Given the description of an element on the screen output the (x, y) to click on. 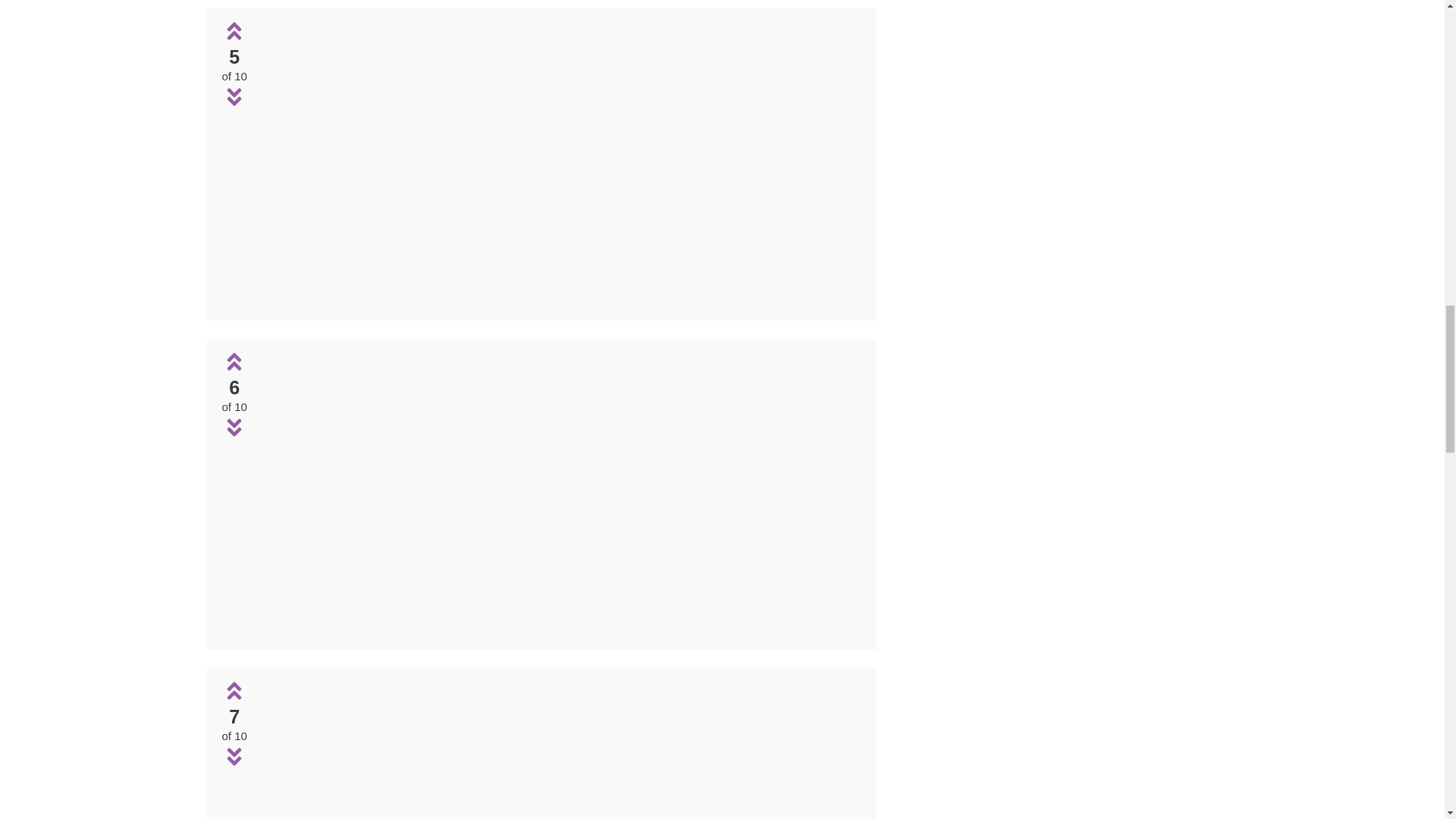
Modern Stools Made Using 75 Control Process (559, 161)
Modern Stools Made Using 75 Control Process (559, 749)
Modern Stools Made Using 75 Control Process (559, 491)
Modern Stools Made Using 75 Control Process (559, 299)
Modern Stools Made Using 75 Control Process (559, 628)
